Given the description of an element on the screen output the (x, y) to click on. 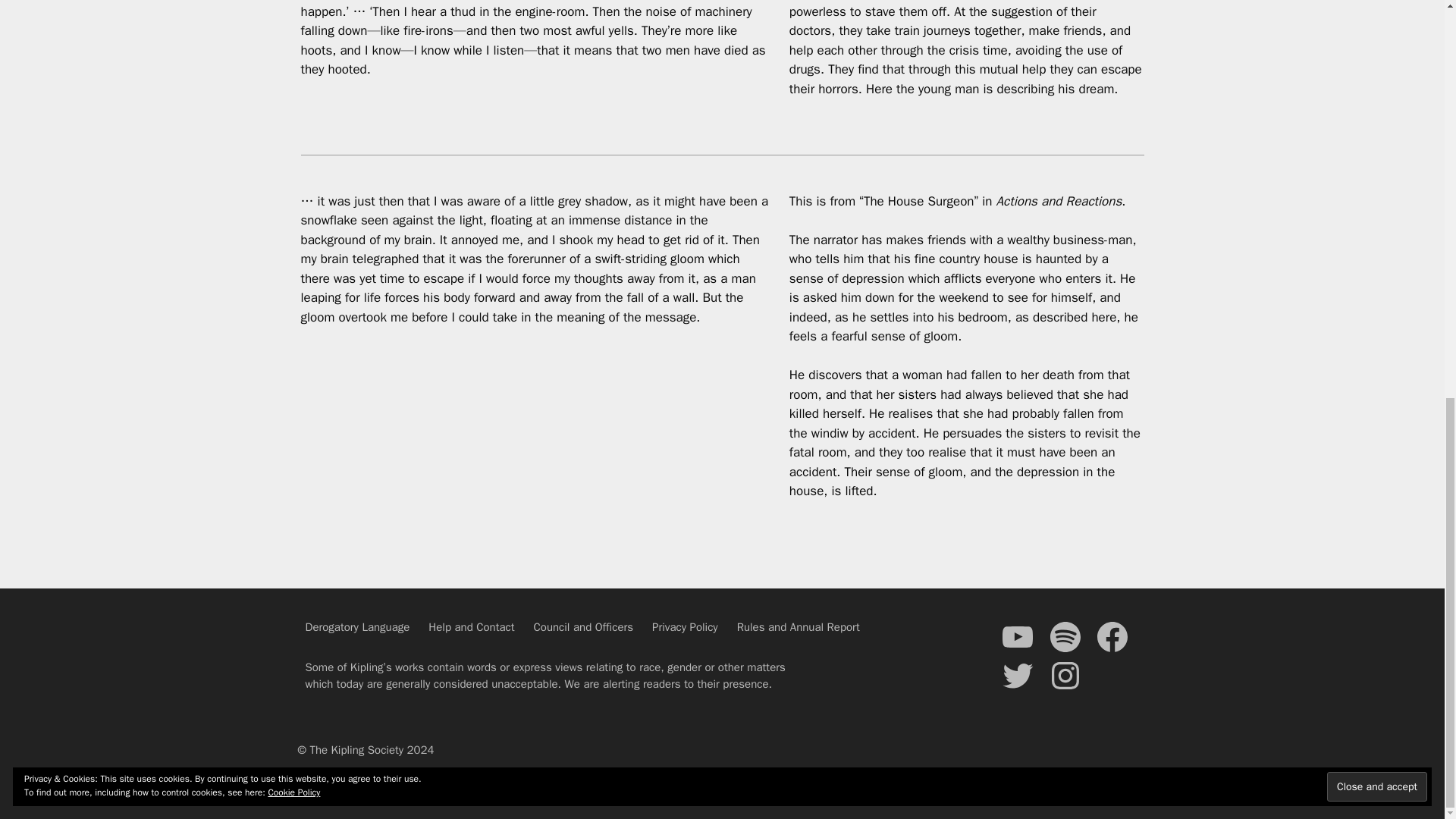
Privacy Policy (684, 626)
Twitter (1016, 675)
Derogatory Language (356, 626)
Instagram (1064, 675)
Cookie Policy (293, 19)
Spotify (1064, 637)
YouTube (1016, 637)
Rules and Annual Report (798, 626)
Council and Officers (583, 626)
Help and Contact (470, 626)
Close and accept (1376, 14)
Close and accept (1376, 14)
Scroll back to top (1406, 766)
Facebook (1112, 637)
